Given the description of an element on the screen output the (x, y) to click on. 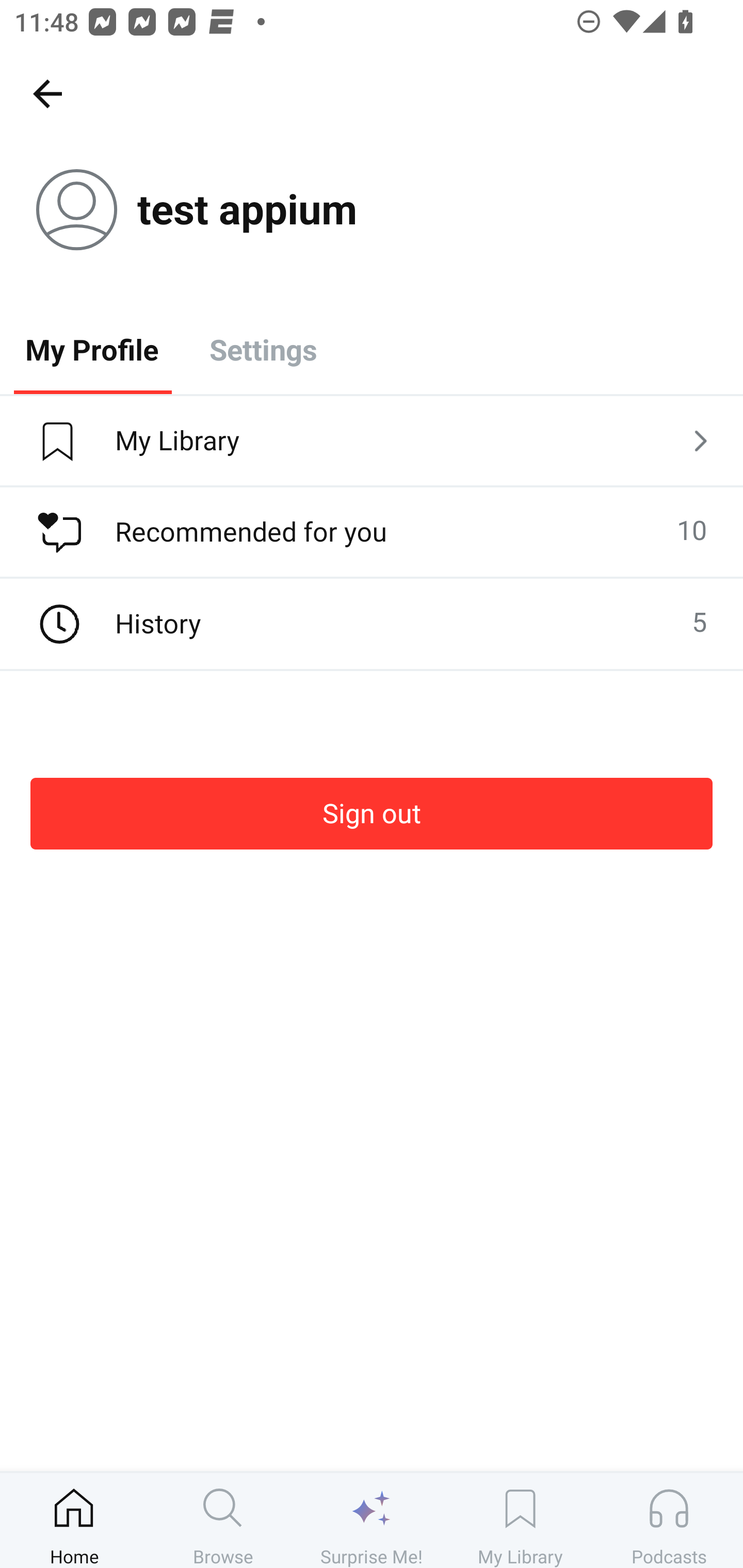
Home, back (47, 92)
My Profile (92, 348)
Settings (263, 348)
My Library (371, 441)
Recommended for you 10 (371, 532)
History 5 (371, 623)
Sign out (371, 813)
Home (74, 1520)
Browse (222, 1520)
Surprise Me! (371, 1520)
My Library (519, 1520)
Podcasts (668, 1520)
